Given the description of an element on the screen output the (x, y) to click on. 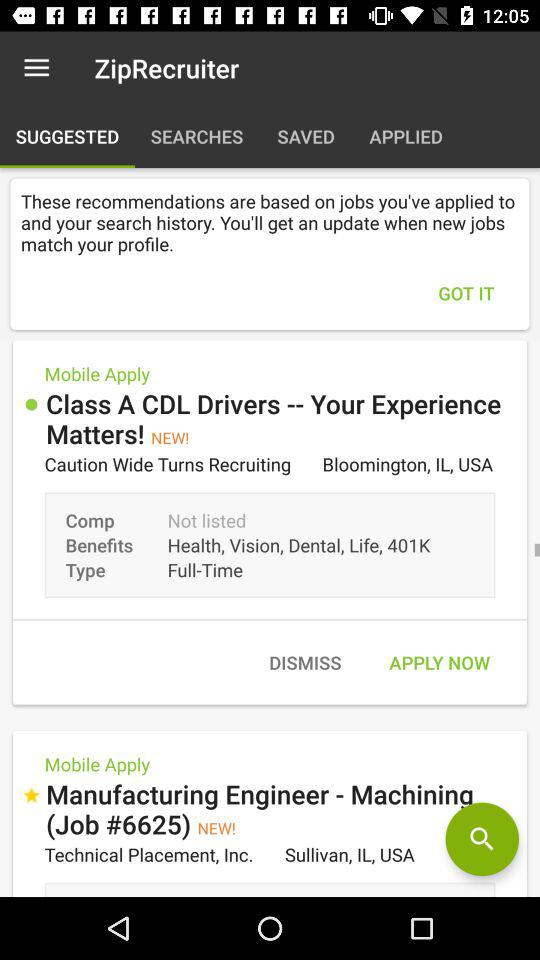
flip to the dismiss icon (304, 662)
